Given the description of an element on the screen output the (x, y) to click on. 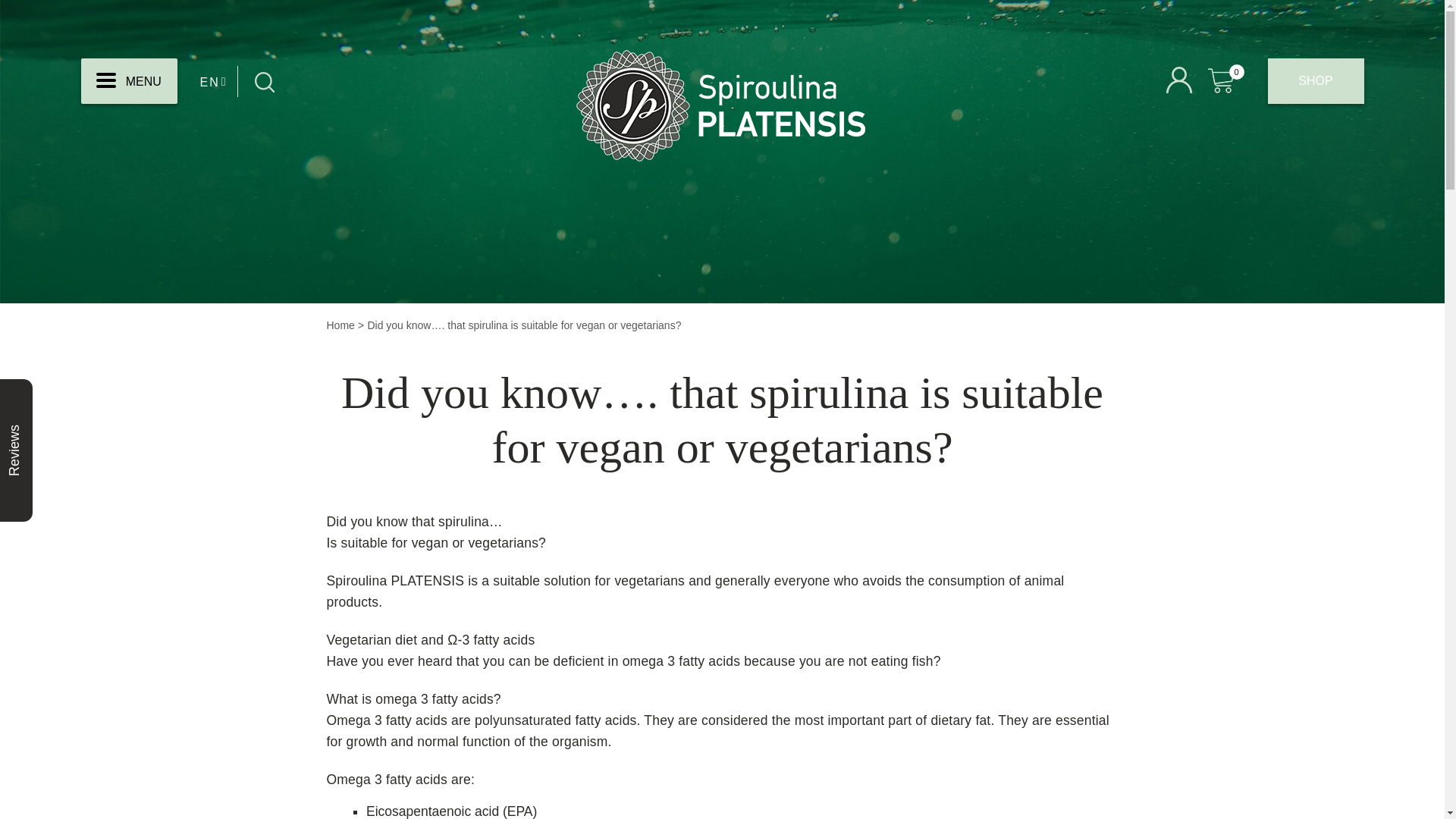
View your shopping cart (1223, 77)
